Given the description of an element on the screen output the (x, y) to click on. 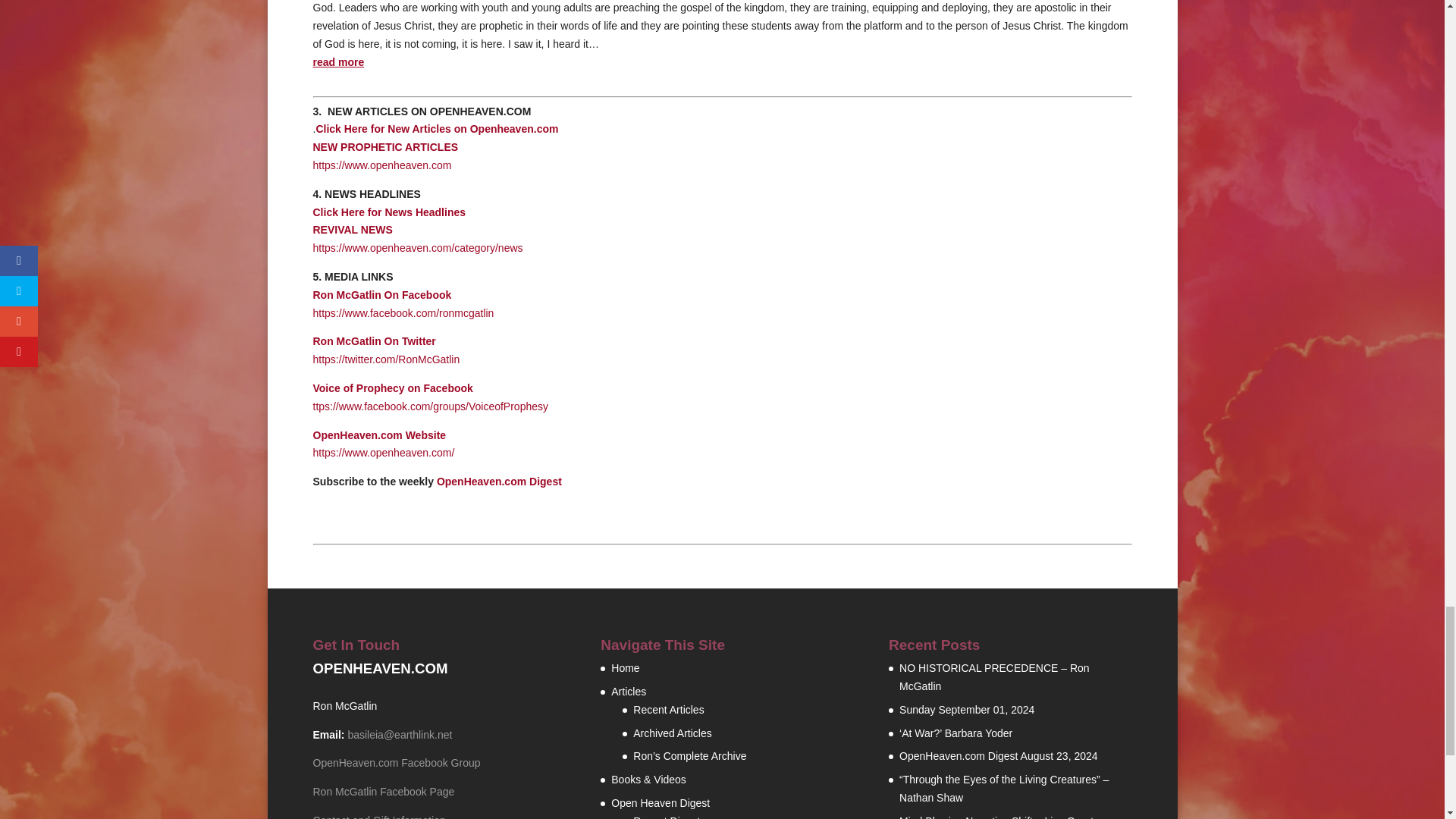
Subscribe here! (499, 481)
read more (389, 221)
Click Here for New Articles on Openheaven.com (338, 61)
